Given the description of an element on the screen output the (x, y) to click on. 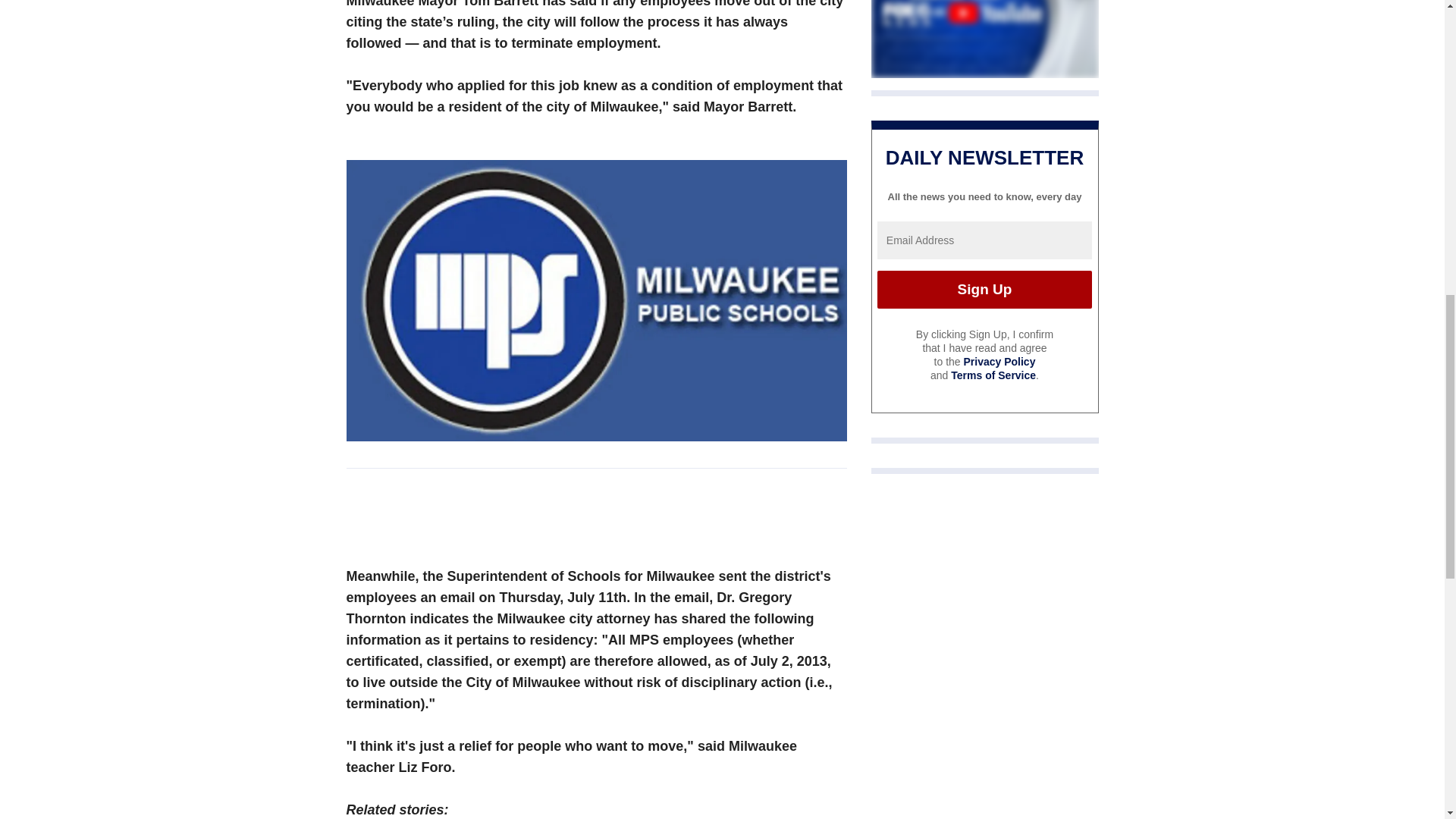
Sign Up (984, 289)
